Given the description of an element on the screen output the (x, y) to click on. 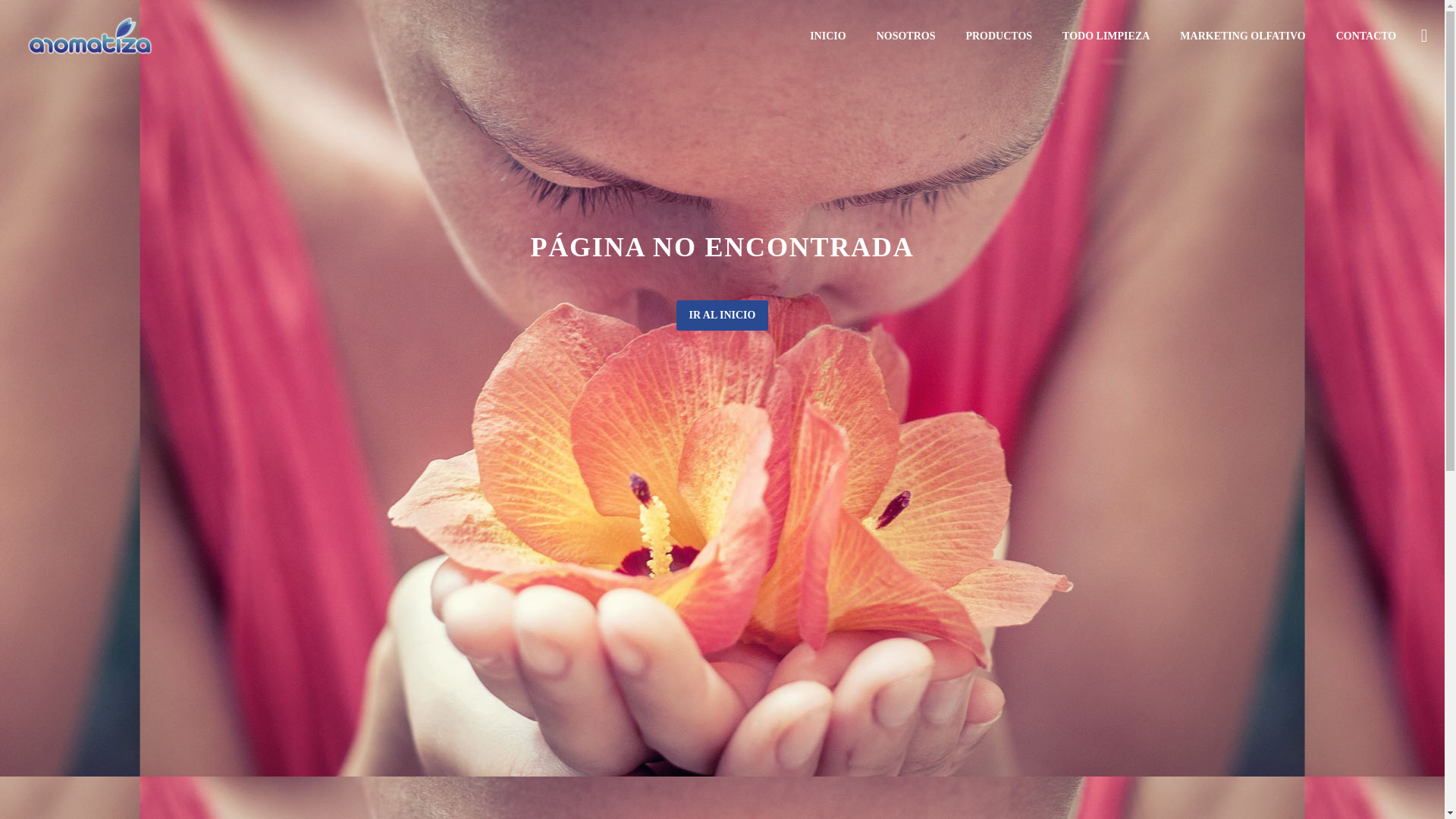
IR AL INICIO (722, 315)
PRODUCTOS (998, 36)
CONTACTO (1366, 36)
INICIO (827, 36)
NOSOTROS (905, 36)
TODO LIMPIEZA (1105, 36)
MARKETING OLFATIVO (1242, 36)
